Given the description of an element on the screen output the (x, y) to click on. 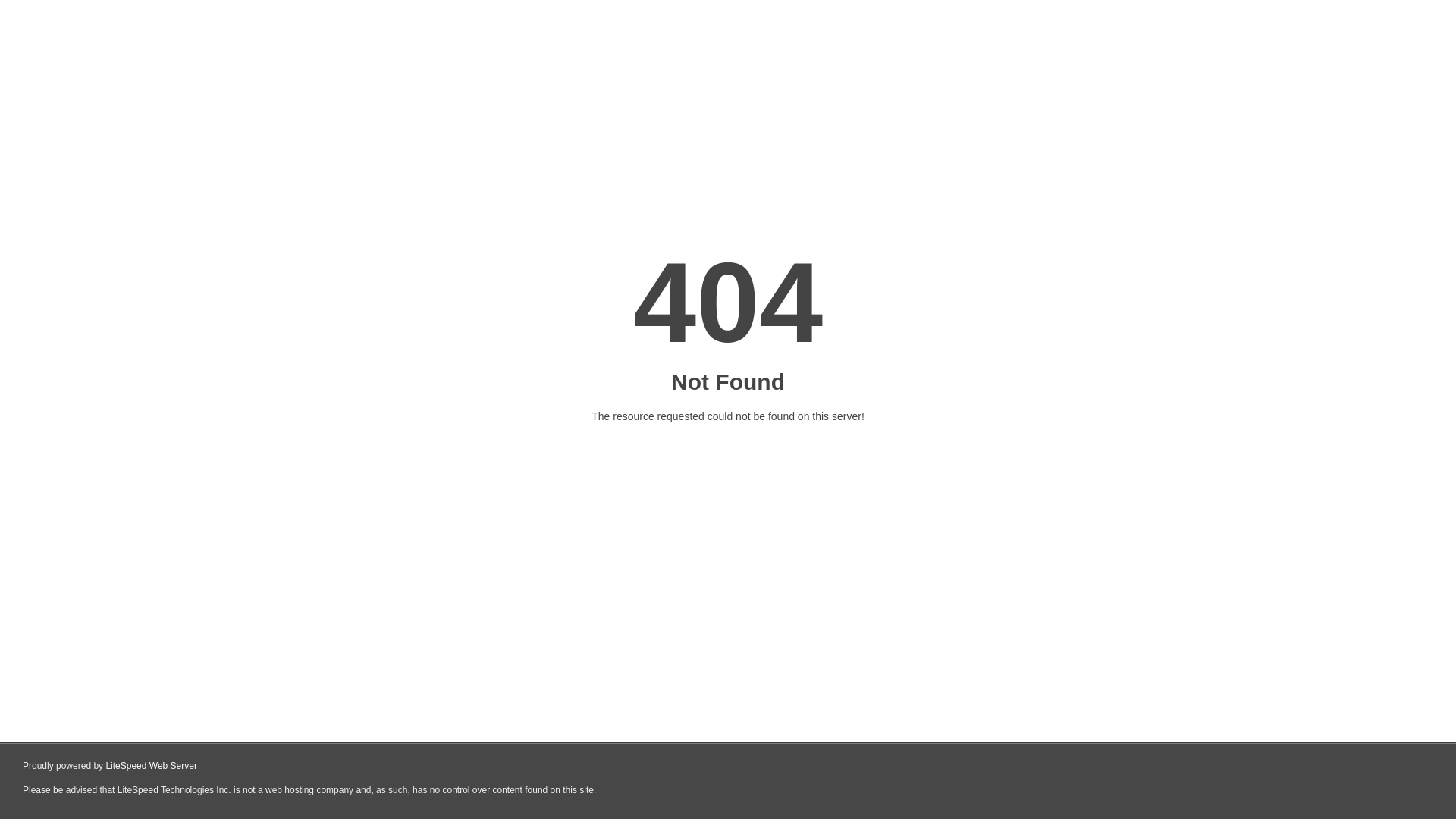
LiteSpeed Web Server Element type: text (151, 765)
